Given the description of an element on the screen output the (x, y) to click on. 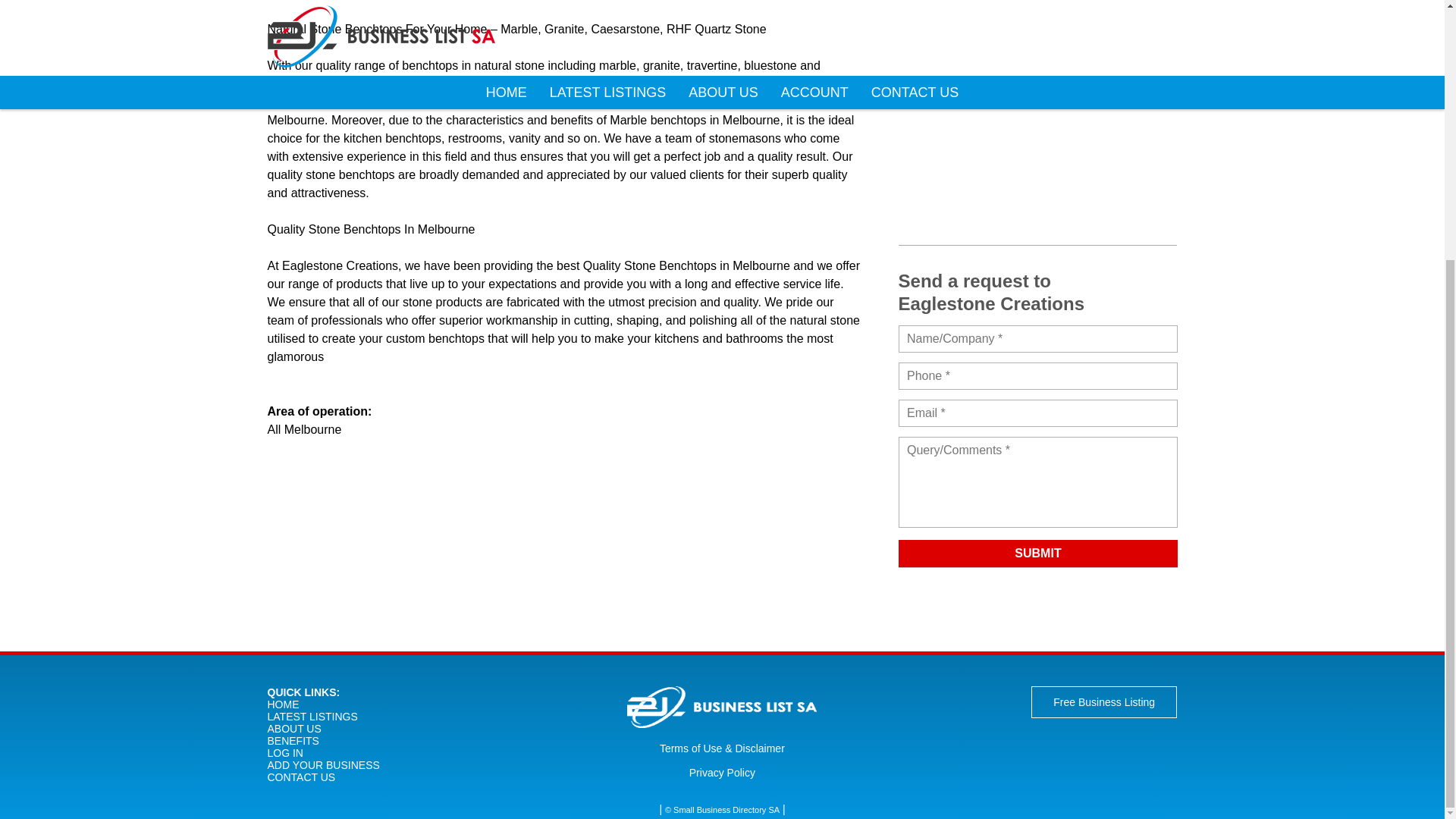
Free Business Listing (1103, 702)
Privacy Policy (721, 772)
HOME (282, 704)
ABOUT US (293, 728)
BENEFITS (292, 740)
LOG IN (284, 752)
ADD YOUR BUSINESS (322, 765)
Contact US (1037, 447)
CONTACT US (300, 776)
LATEST LISTINGS (311, 716)
